Given the description of an element on the screen output the (x, y) to click on. 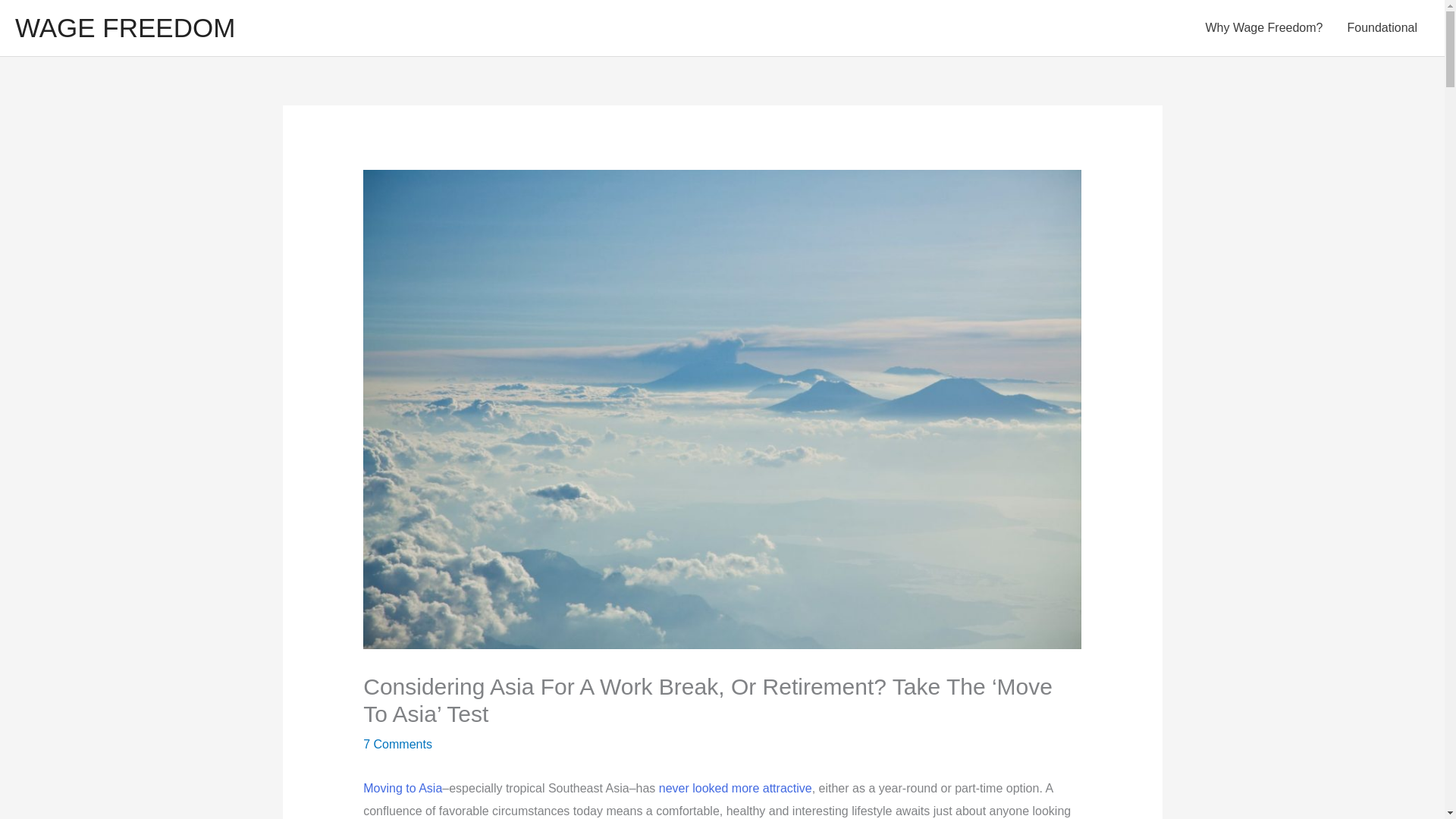
never looked more attractive (735, 788)
Foundational (1382, 28)
Why Wage Freedom? (1263, 28)
Moving to Asia (402, 788)
WAGE FREEDOM (124, 27)
7 Comments (397, 744)
